Given the description of an element on the screen output the (x, y) to click on. 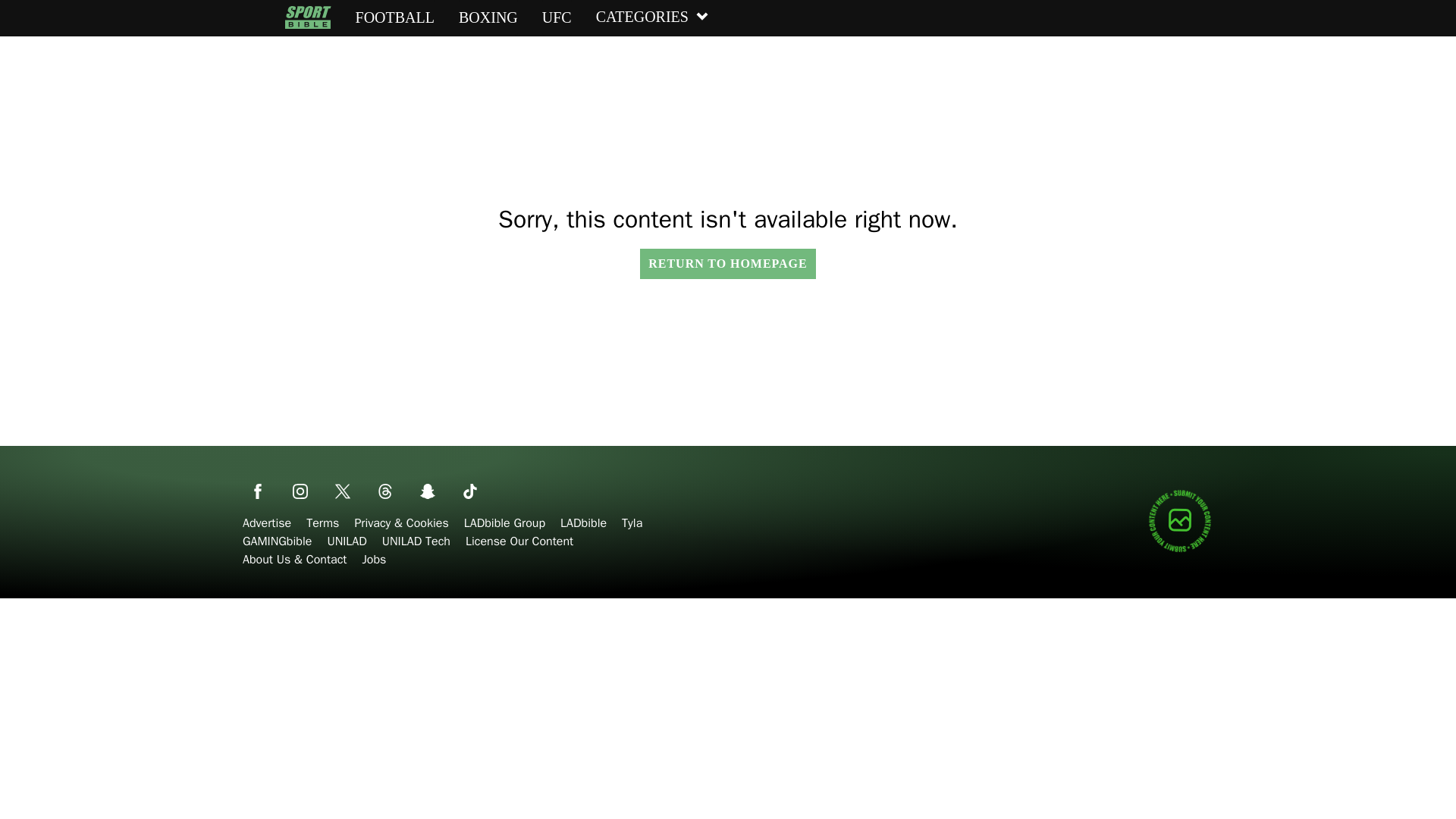
FOOTBALL (394, 17)
BOXING (488, 17)
UFC (556, 17)
